Given the description of an element on the screen output the (x, y) to click on. 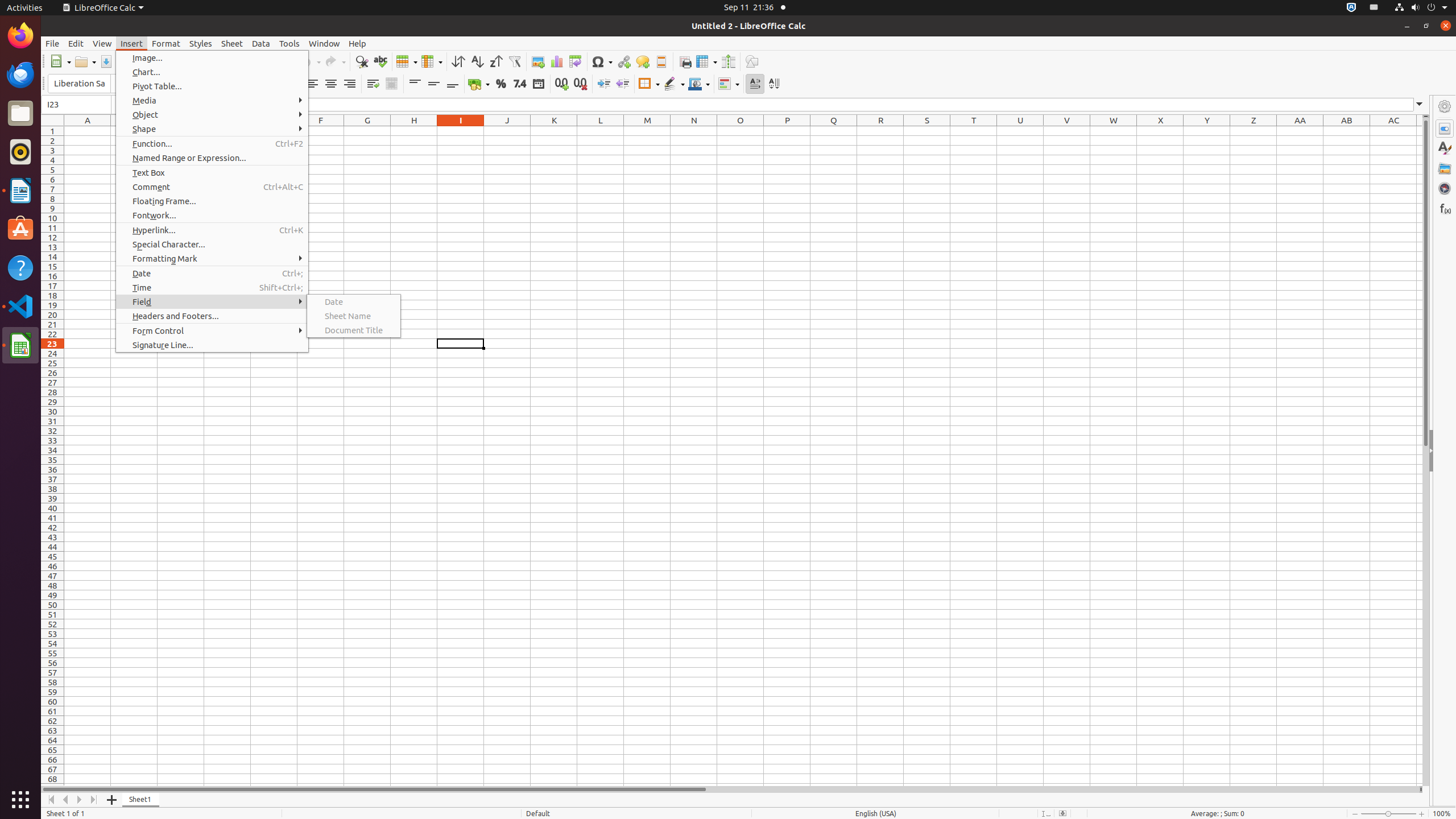
Form Control Element type: menu (212, 330)
Sort Element type: push-button (457, 61)
AutoFilter Element type: push-button (514, 61)
LibreOffice Calc Element type: push-button (20, 344)
Data Element type: menu (260, 43)
